Given the description of an element on the screen output the (x, y) to click on. 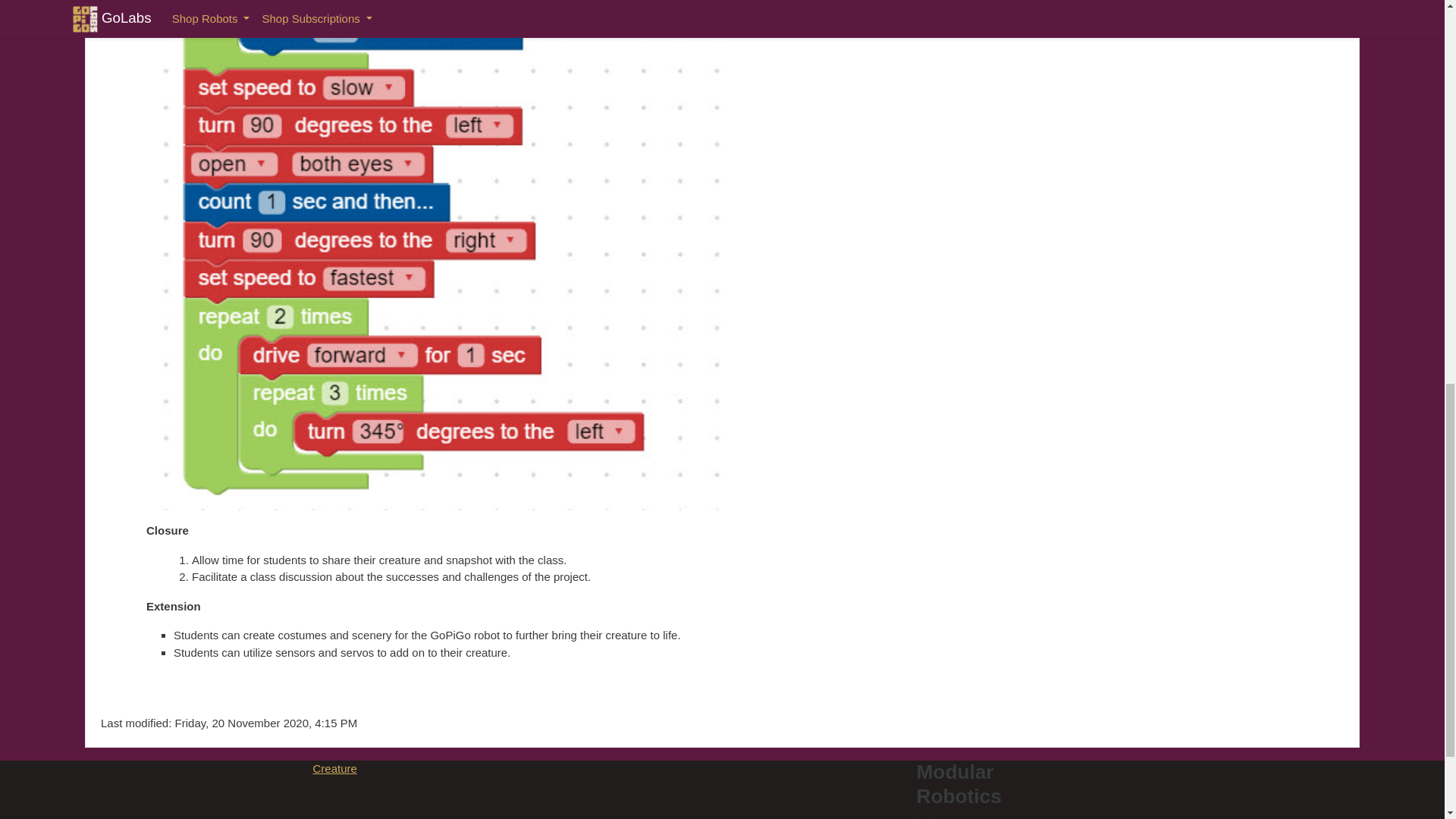
Creature (334, 768)
